Given the description of an element on the screen output the (x, y) to click on. 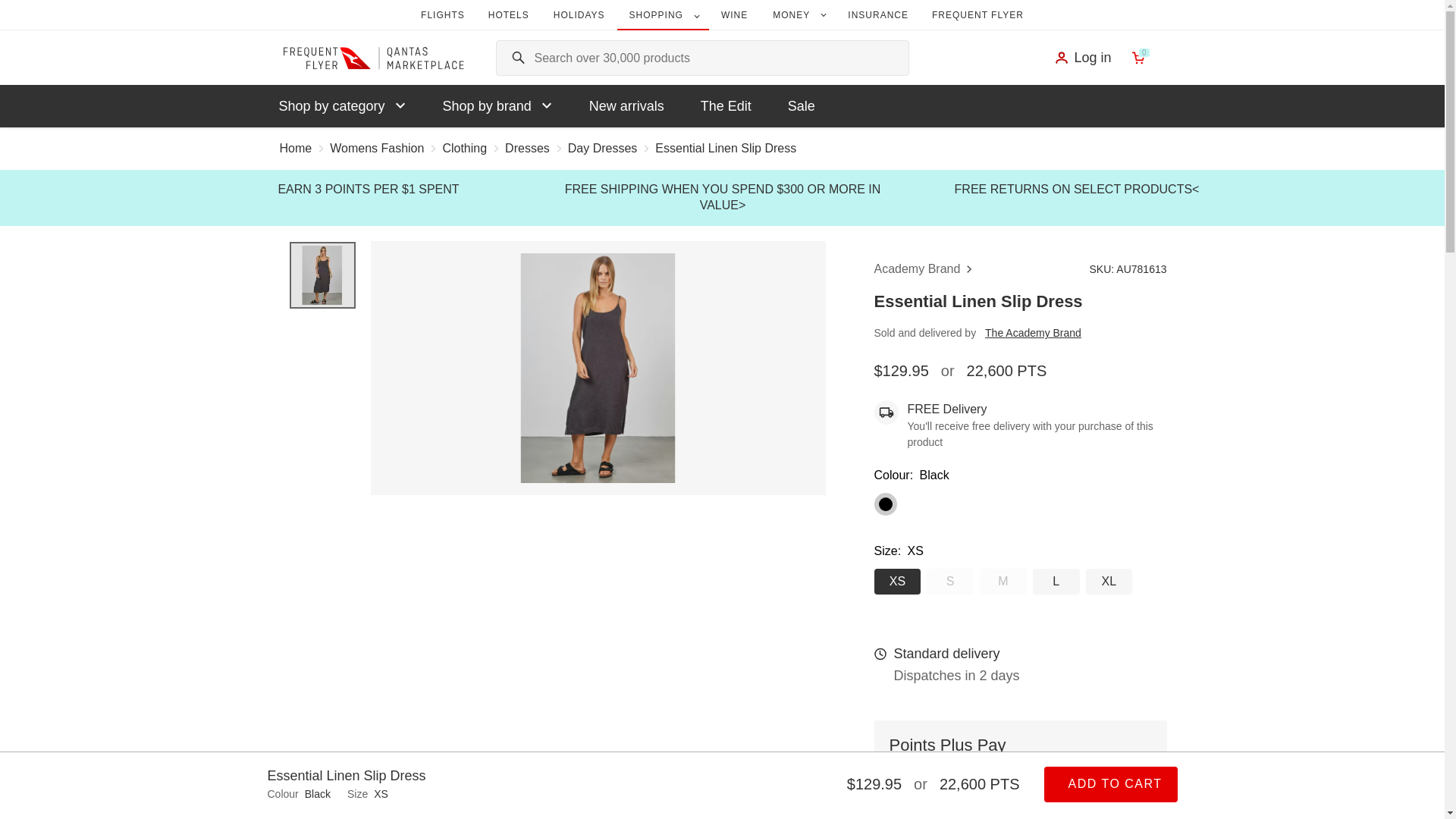
FREQUENT FLYER (977, 15)
INSURANCE (877, 15)
SHOPPING (663, 16)
Log in (1082, 57)
HOTELS (508, 15)
Shop by category (342, 106)
Shop by brand (497, 106)
FLIGHTS (443, 15)
22,600 (949, 792)
0.00 (1090, 785)
New arrivals (626, 106)
Sale (801, 106)
HOLIDAYS (579, 15)
MONEY (797, 15)
The Edit (726, 106)
